Given the description of an element on the screen output the (x, y) to click on. 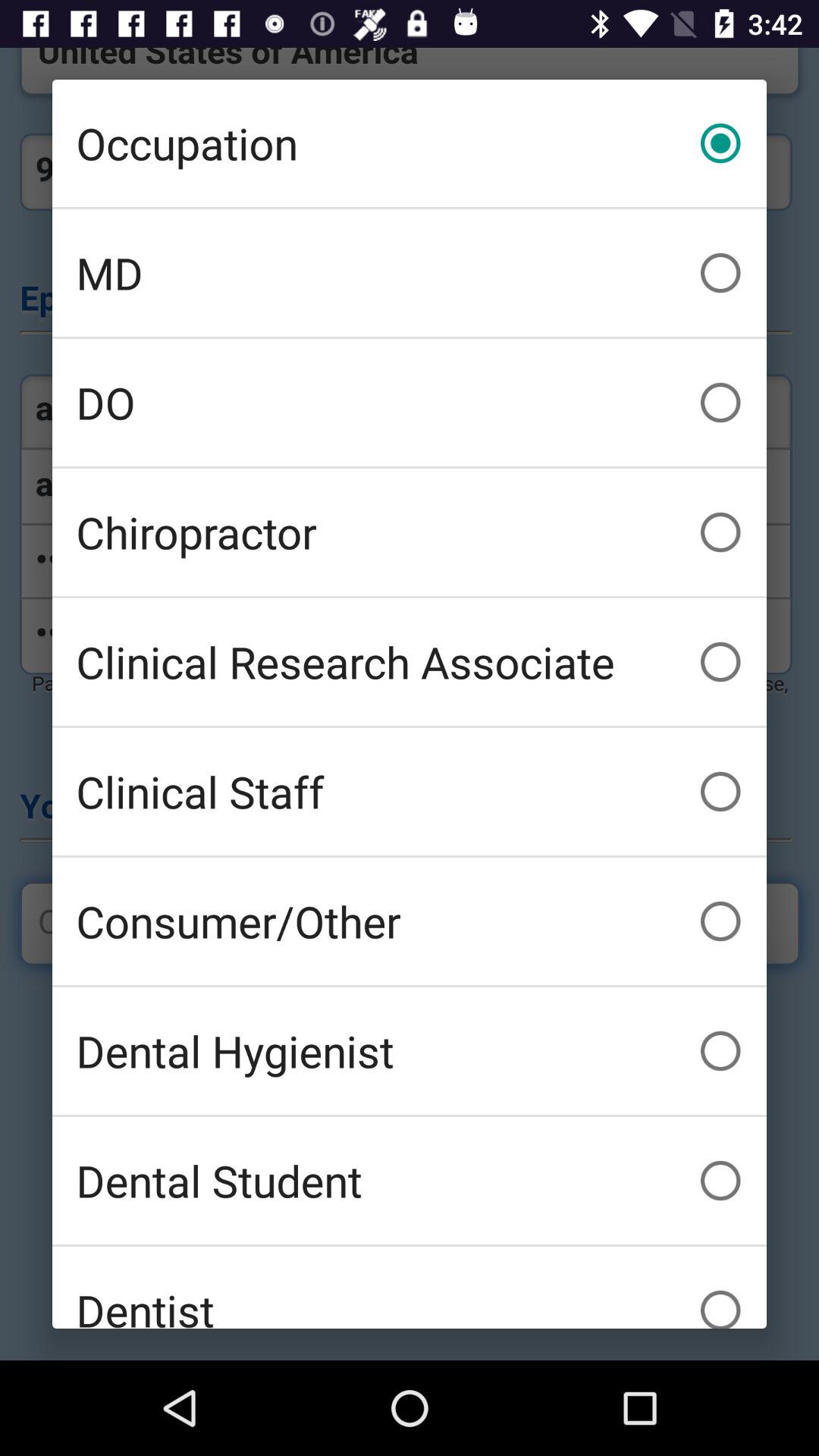
flip to the occupation (409, 143)
